Given the description of an element on the screen output the (x, y) to click on. 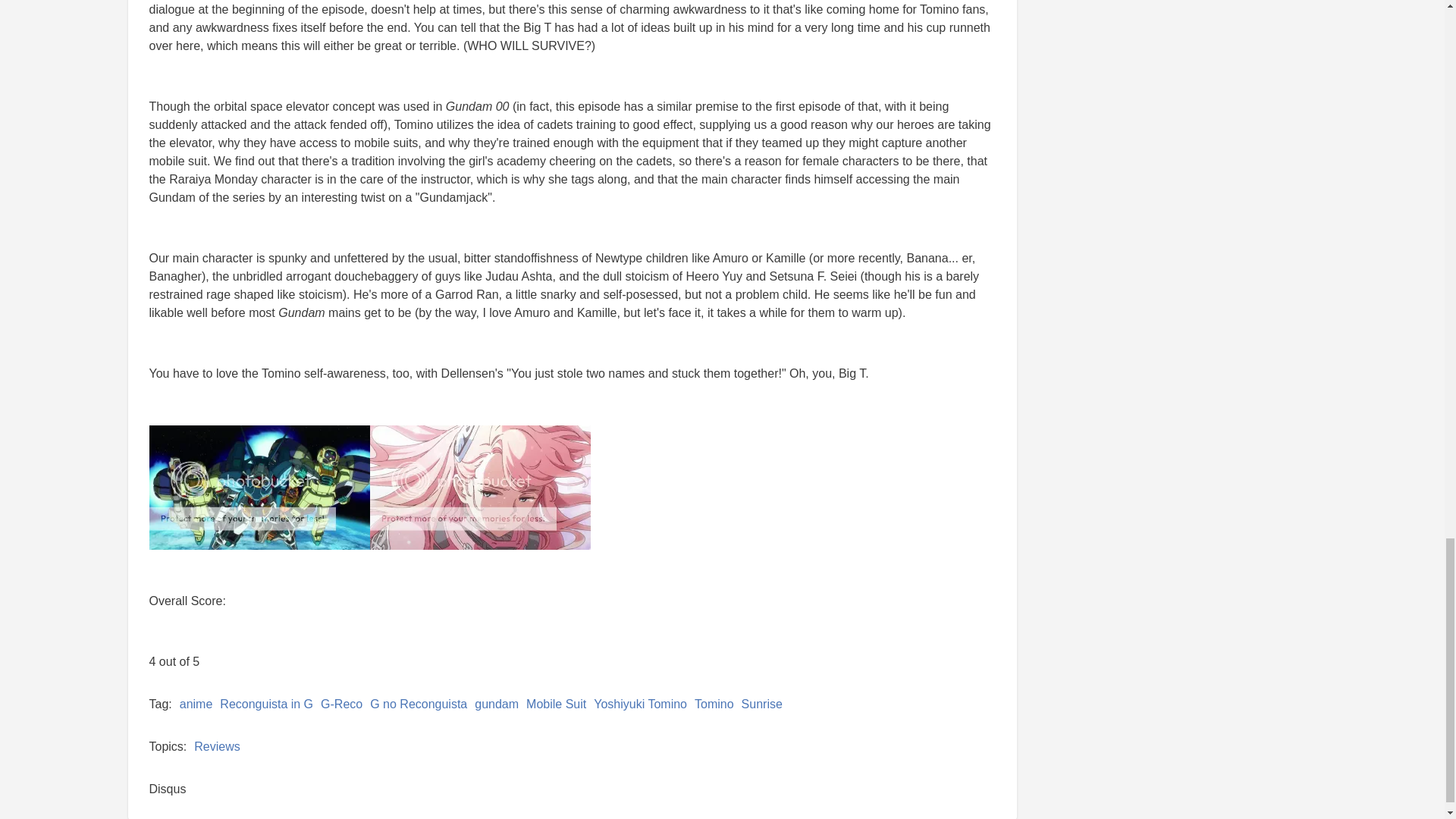
Reviews (216, 746)
anime (195, 703)
G no Reconguista (418, 703)
Sunrise (762, 703)
Reconguista in G (266, 703)
Mobile Suit (555, 703)
Tomino (713, 703)
G-Reco (341, 703)
Yoshiyuki Tomino (640, 703)
gundam (496, 703)
